Given the description of an element on the screen output the (x, y) to click on. 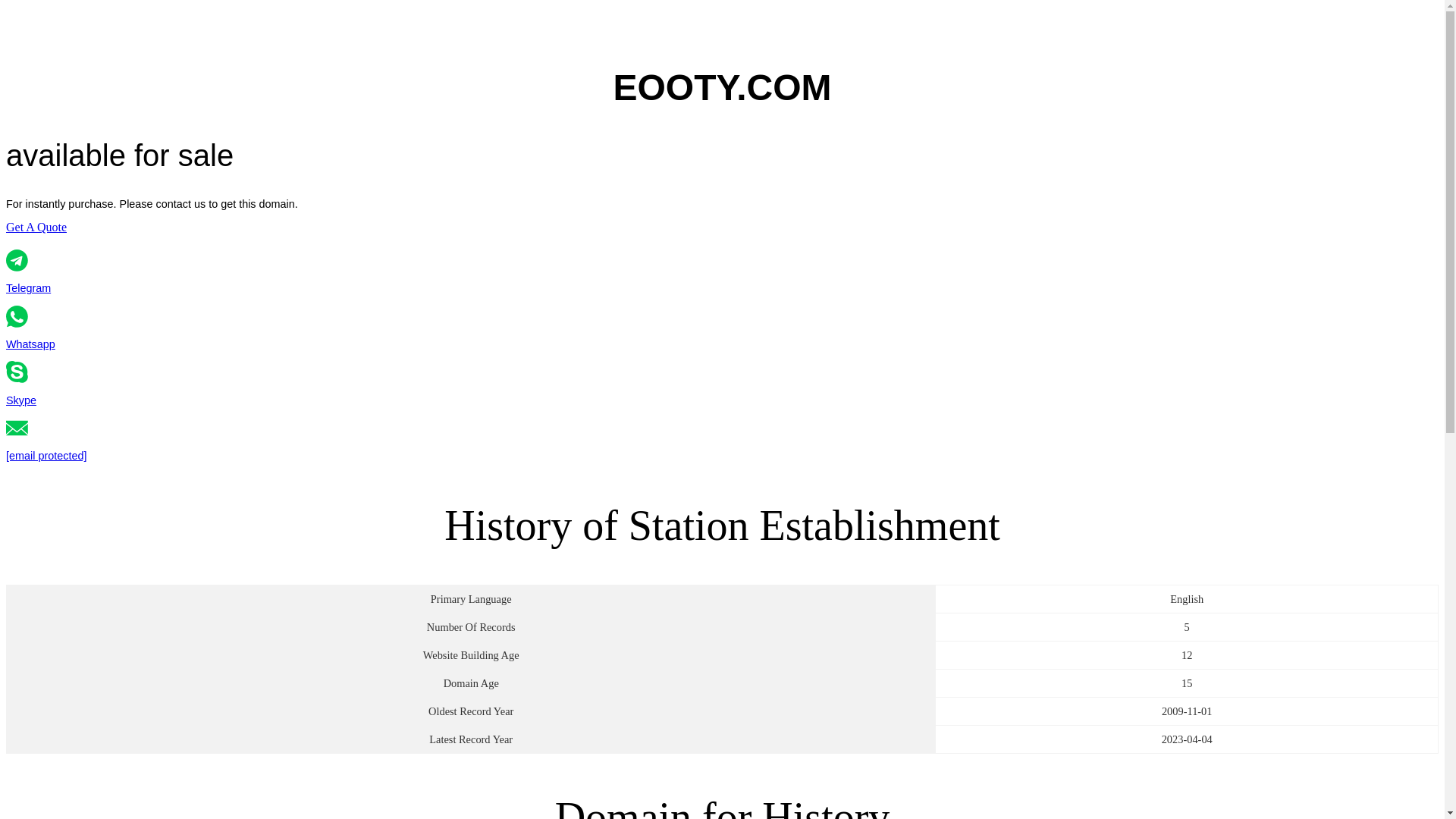
Get A Quote (35, 226)
Email (35, 226)
